Given the description of an element on the screen output the (x, y) to click on. 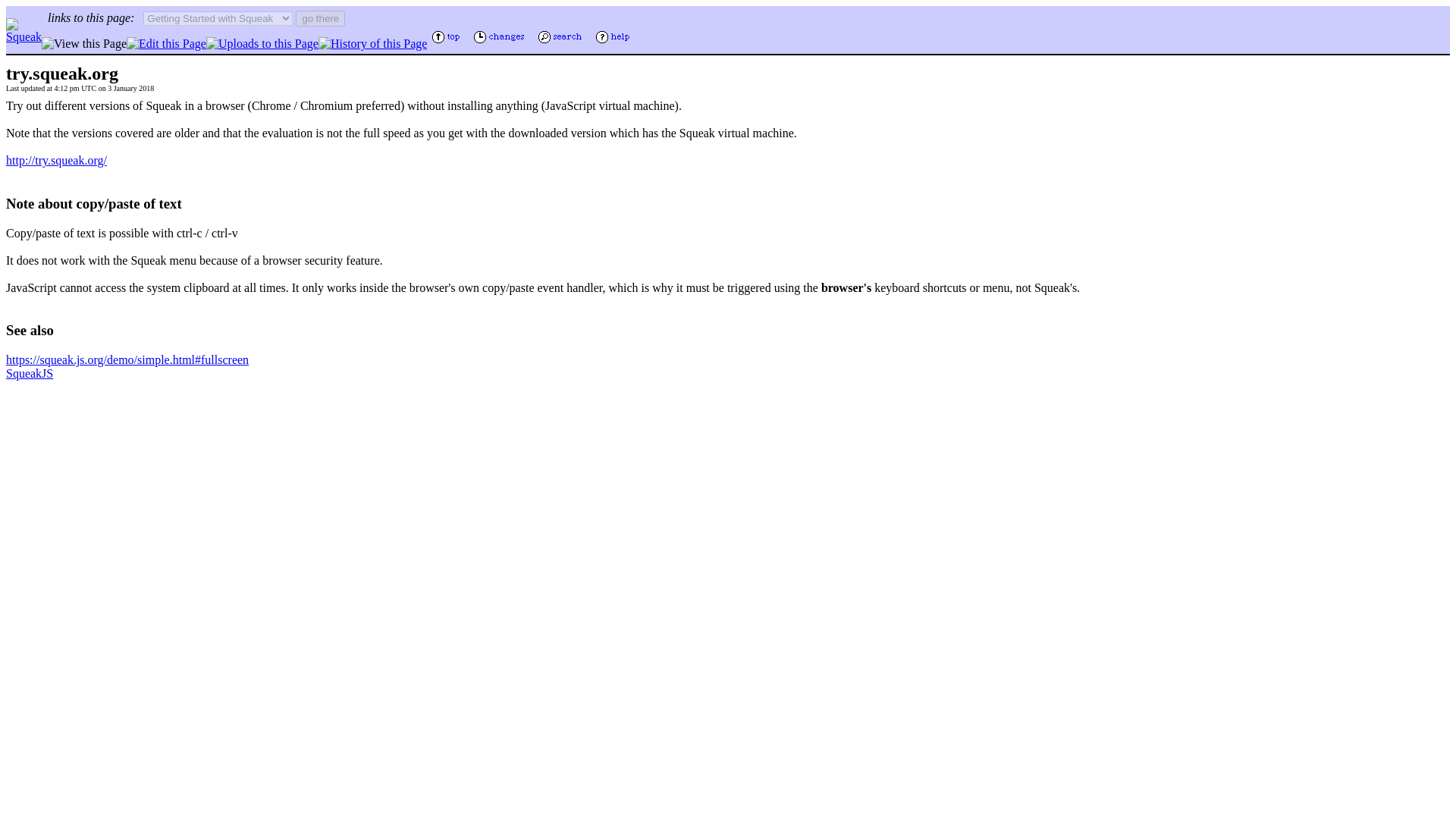
Top of the Swiki (447, 42)
go there (320, 18)
go there (320, 18)
History of this Page (373, 42)
Search the Swiki (561, 42)
Help Guide (615, 42)
Recent Changes (500, 42)
Uploads to this Page (262, 42)
Edit this Page (166, 42)
SqueakJS (28, 373)
SqueakJS: last edited 1268 days ago by 10.176.200.8 (28, 373)
